Given the description of an element on the screen output the (x, y) to click on. 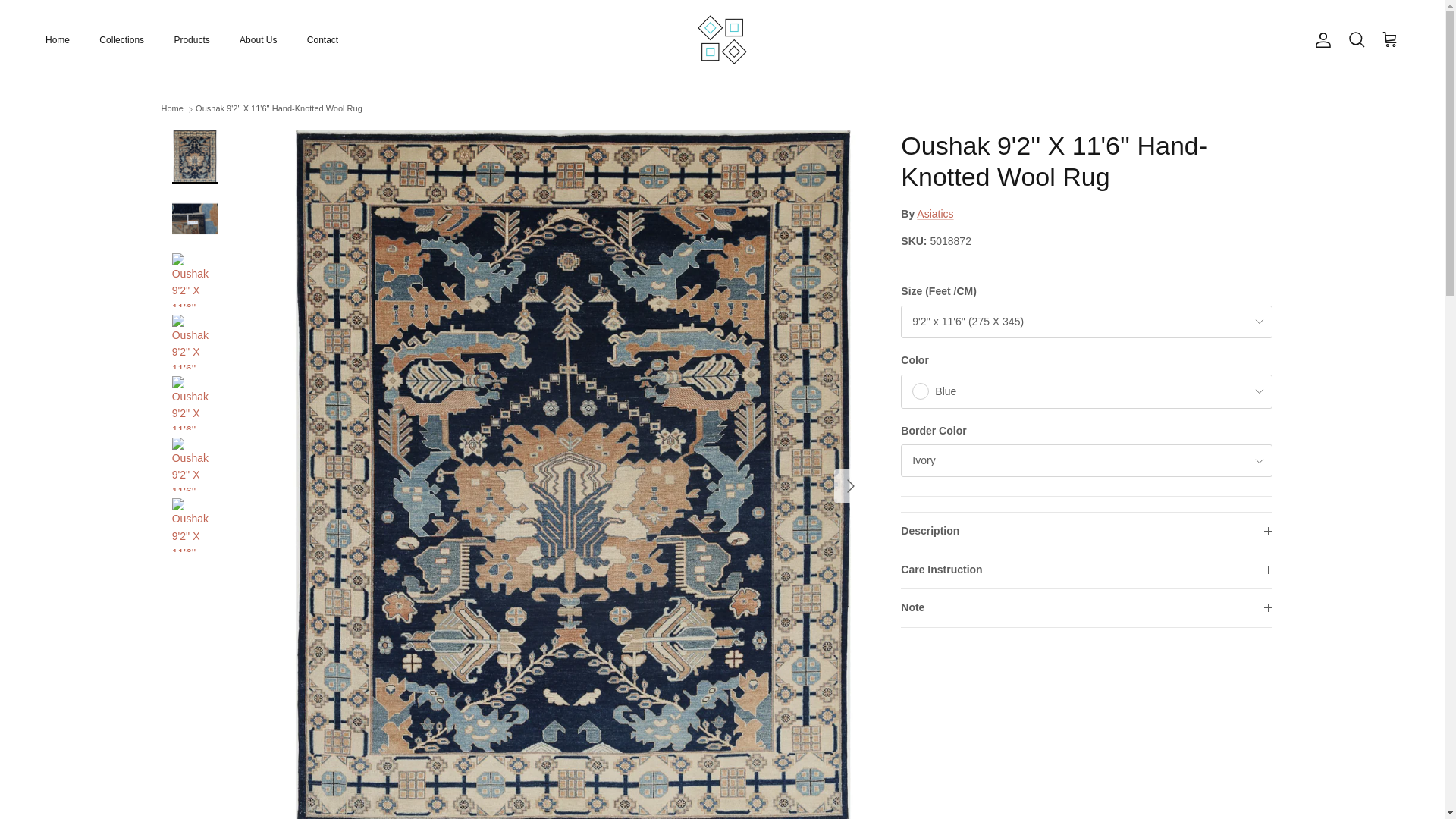
Next (850, 485)
About Us (257, 39)
Cart (1389, 39)
Asiatics USA (721, 39)
Collections (121, 39)
Contact (323, 39)
Products (191, 39)
Account (1319, 39)
Oushak 9'2'' X 11'6'' Hand-Knotted Wool Rug (278, 108)
Search (1356, 39)
Home (57, 39)
Home (171, 108)
